Given the description of an element on the screen output the (x, y) to click on. 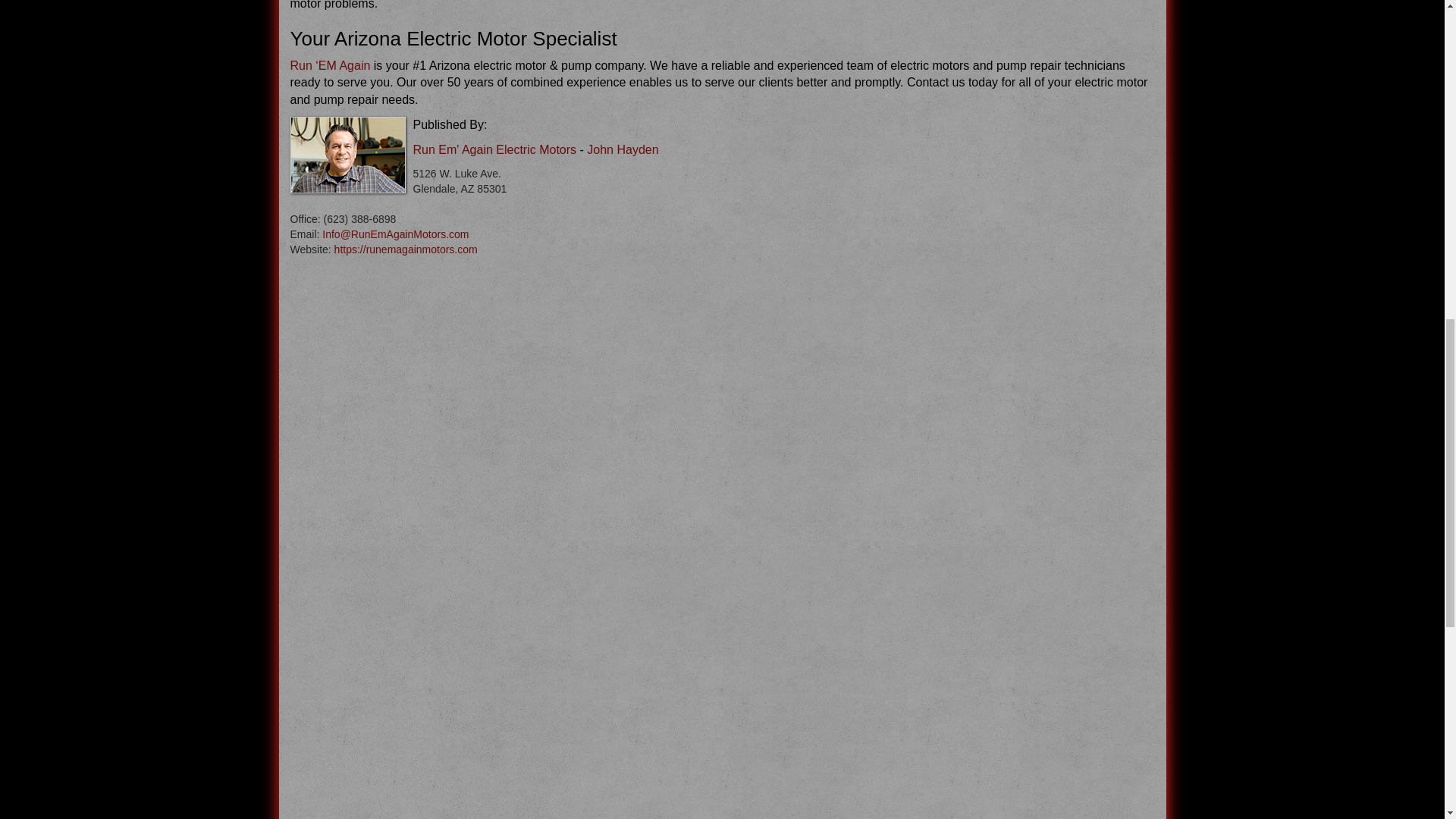
Contact Run Em Again in Glendale AZ (394, 234)
John Hayden (622, 149)
Run Em' Again Electric Motors (494, 149)
Run Em Again Electric Motors in Glendale Arizona (494, 149)
